Given the description of an element on the screen output the (x, y) to click on. 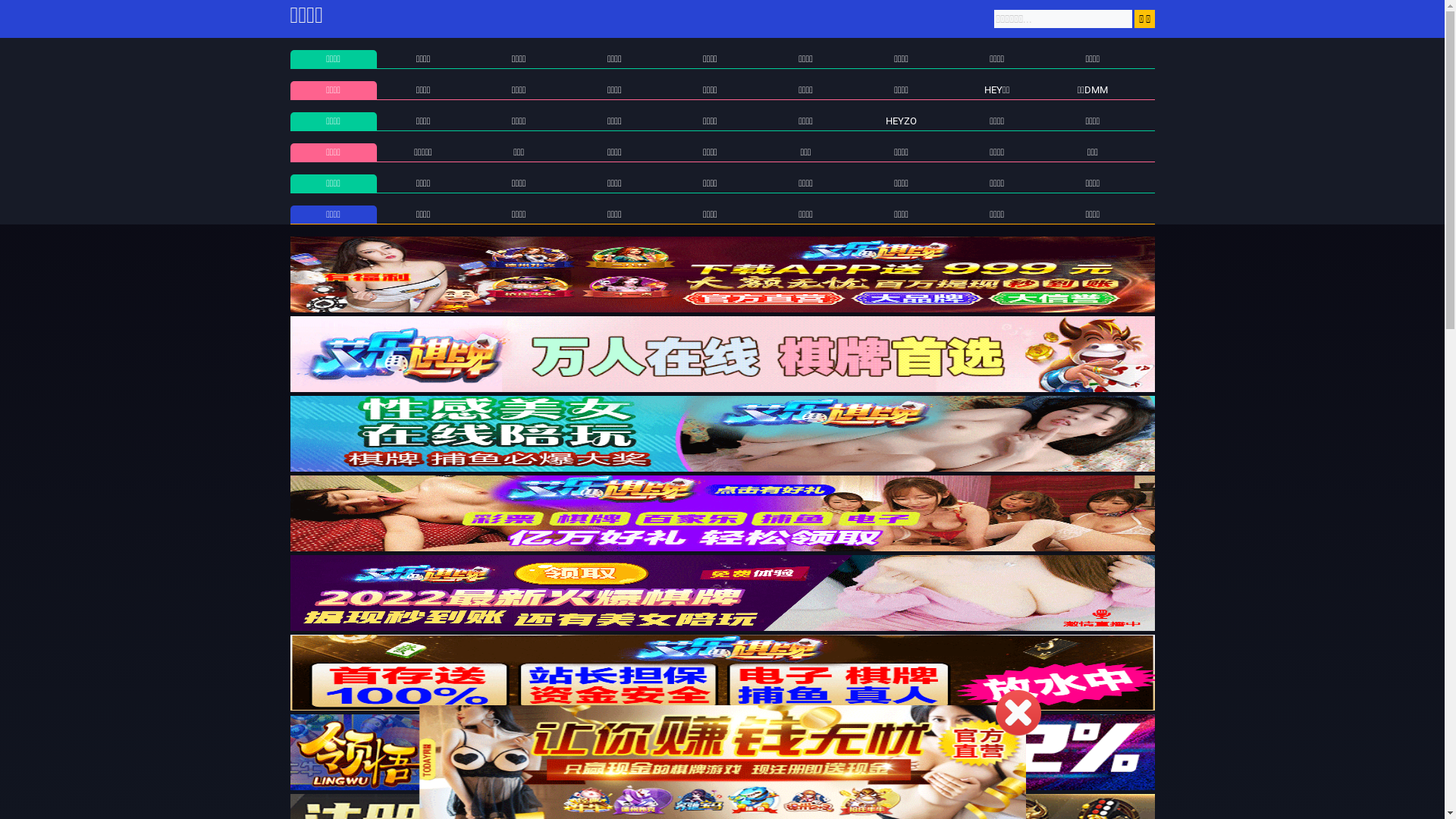
HEYZO Element type: text (900, 120)
